Given the description of an element on the screen output the (x, y) to click on. 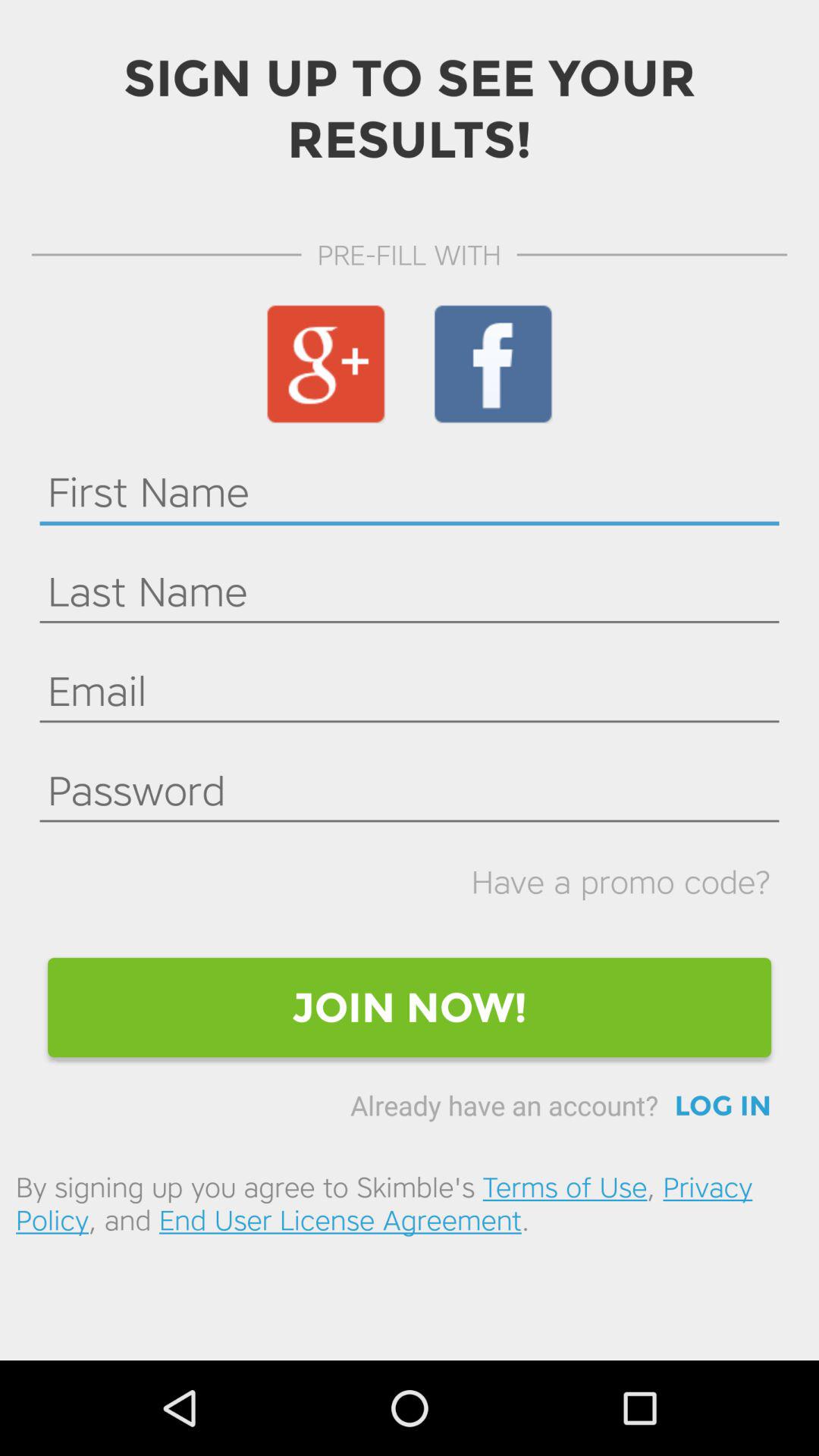
turn off the item below the pre-fill with item (325, 363)
